Given the description of an element on the screen output the (x, y) to click on. 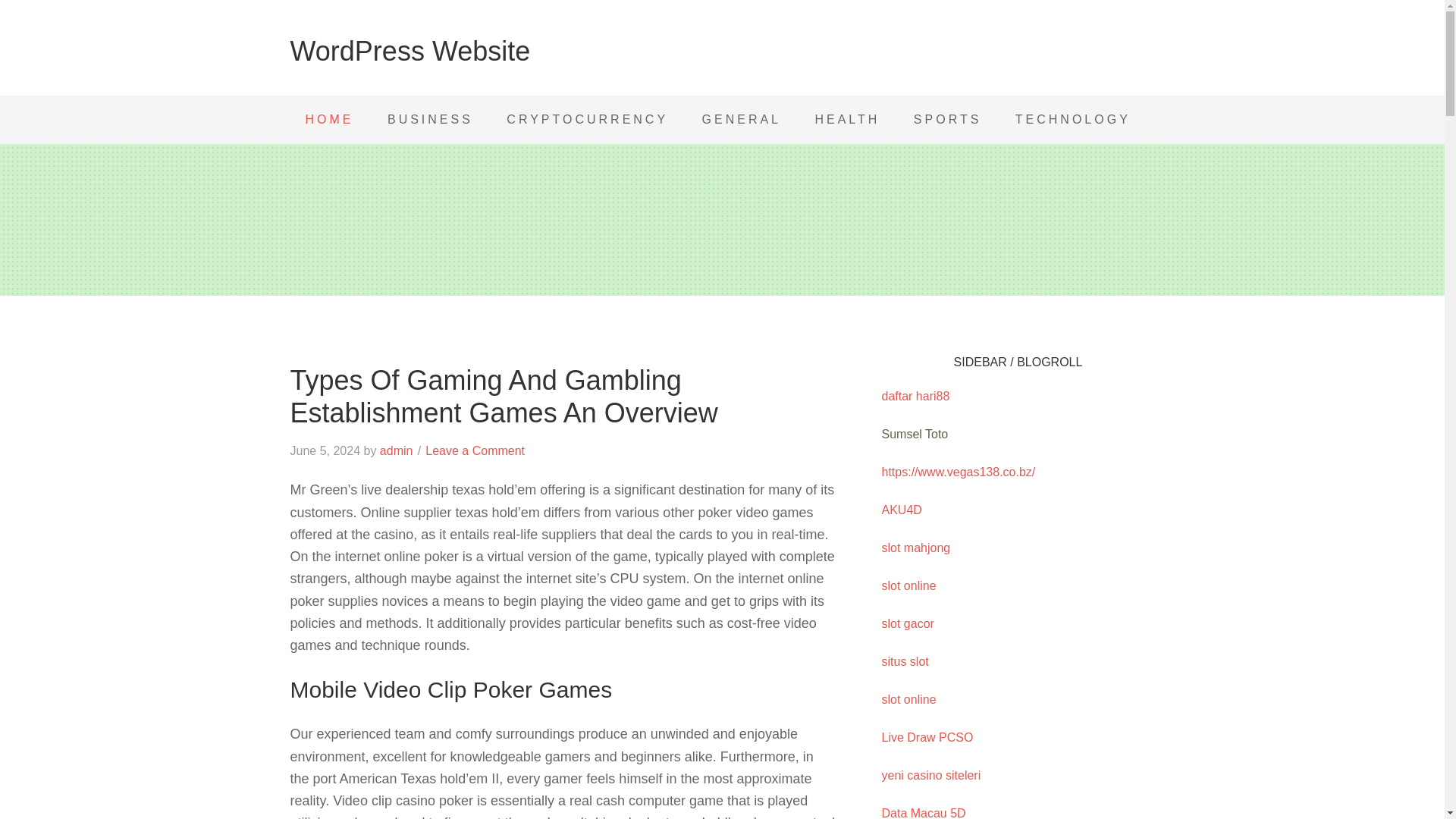
slot online (908, 585)
HEALTH (847, 119)
slot gacor (906, 623)
AKU4D (900, 509)
SPORTS (947, 119)
yeni casino siteleri (929, 775)
slot online (908, 698)
Types Of Gaming And Gambling Establishment Games An Overview (562, 396)
BUSINESS (429, 119)
daftar hari88 (914, 395)
Sumsel Toto (913, 433)
HOME (328, 119)
Live Draw PCSO (926, 737)
admin (396, 450)
WordPress Website (409, 51)
